Given the description of an element on the screen output the (x, y) to click on. 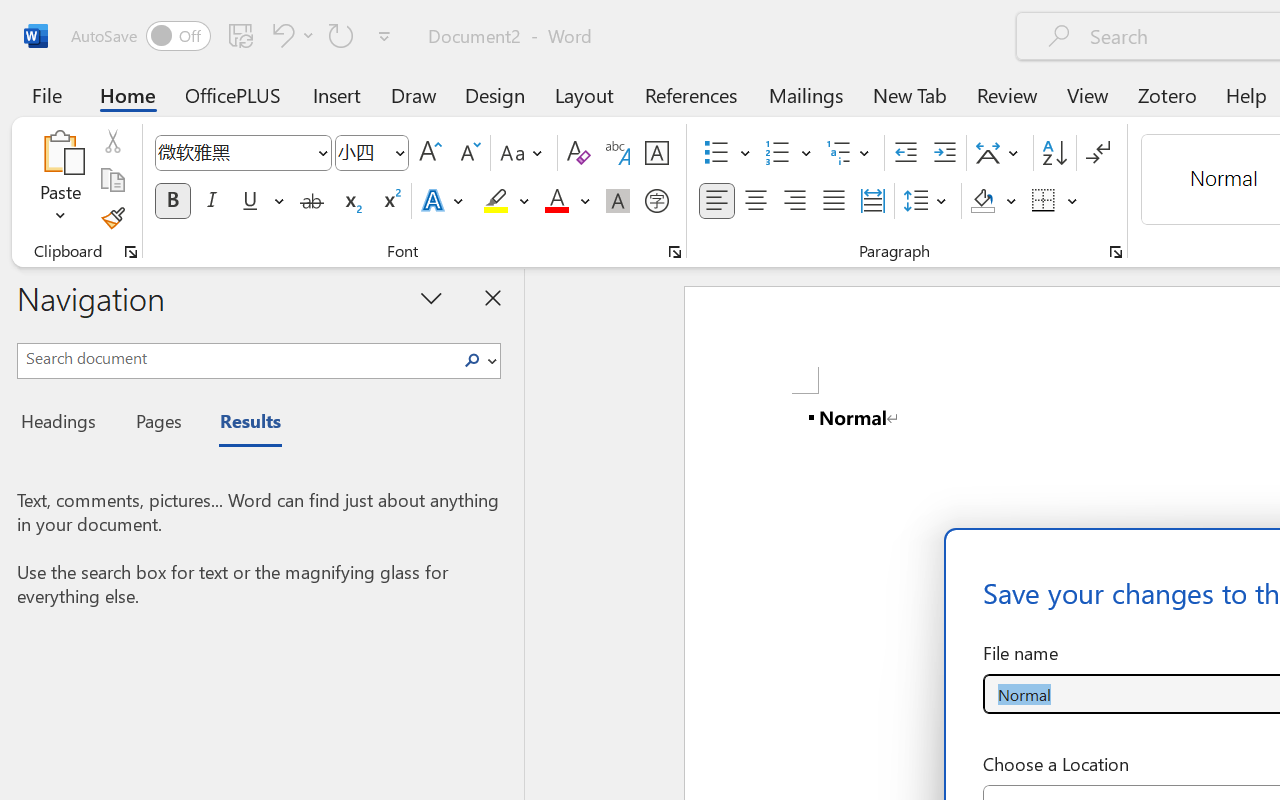
Subscript (350, 201)
New Tab (909, 94)
Review (1007, 94)
References (690, 94)
Increase Indent (944, 153)
Task Pane Options (431, 297)
Office Clipboard... (131, 252)
Mailings (806, 94)
Design (495, 94)
Numbering (778, 153)
Shading (993, 201)
Format Painter (112, 218)
Clear Formatting (578, 153)
Customize Quick Access Toolbar (384, 35)
